Given the description of an element on the screen output the (x, y) to click on. 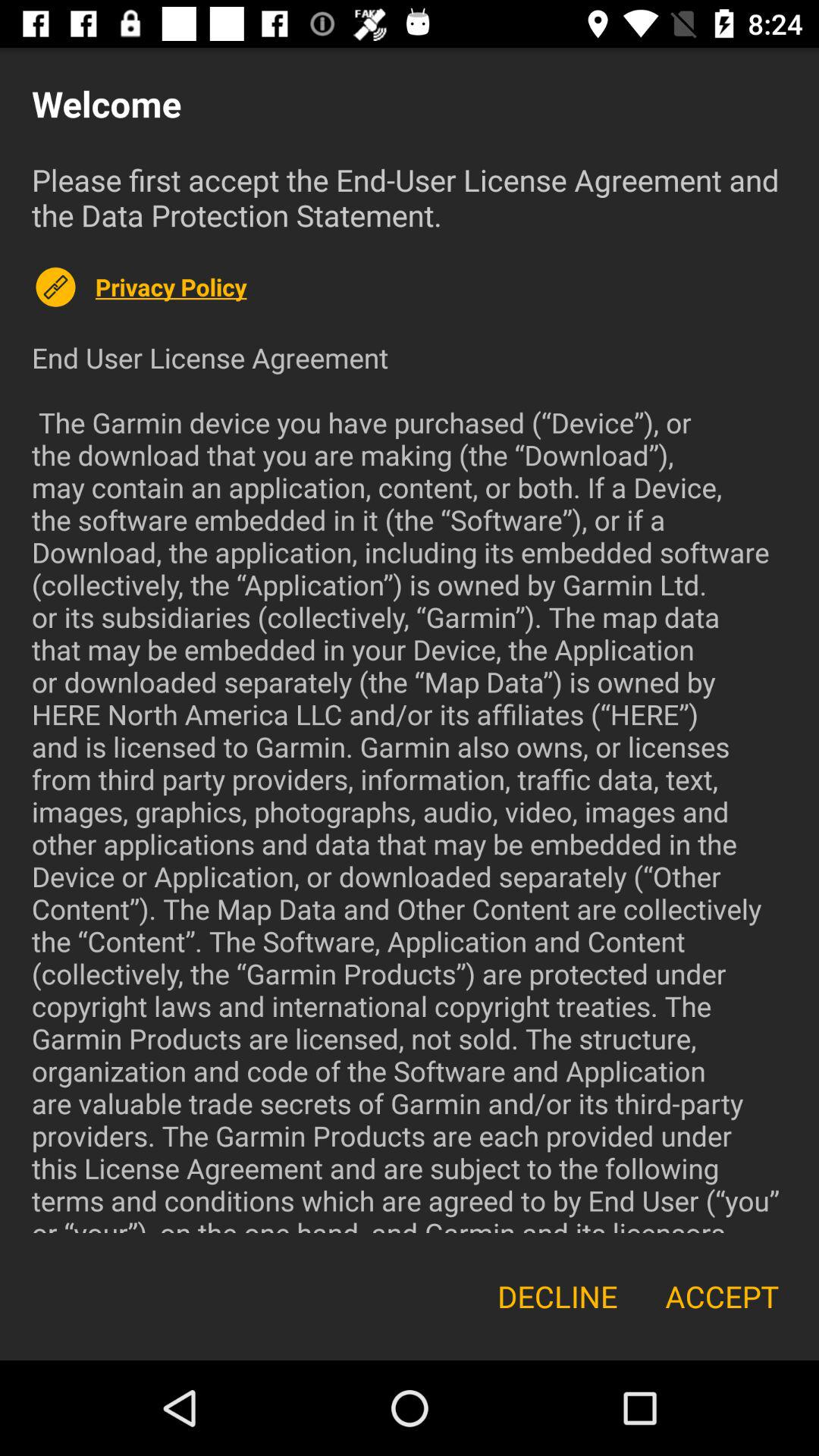
swipe until the decline item (557, 1296)
